Given the description of an element on the screen output the (x, y) to click on. 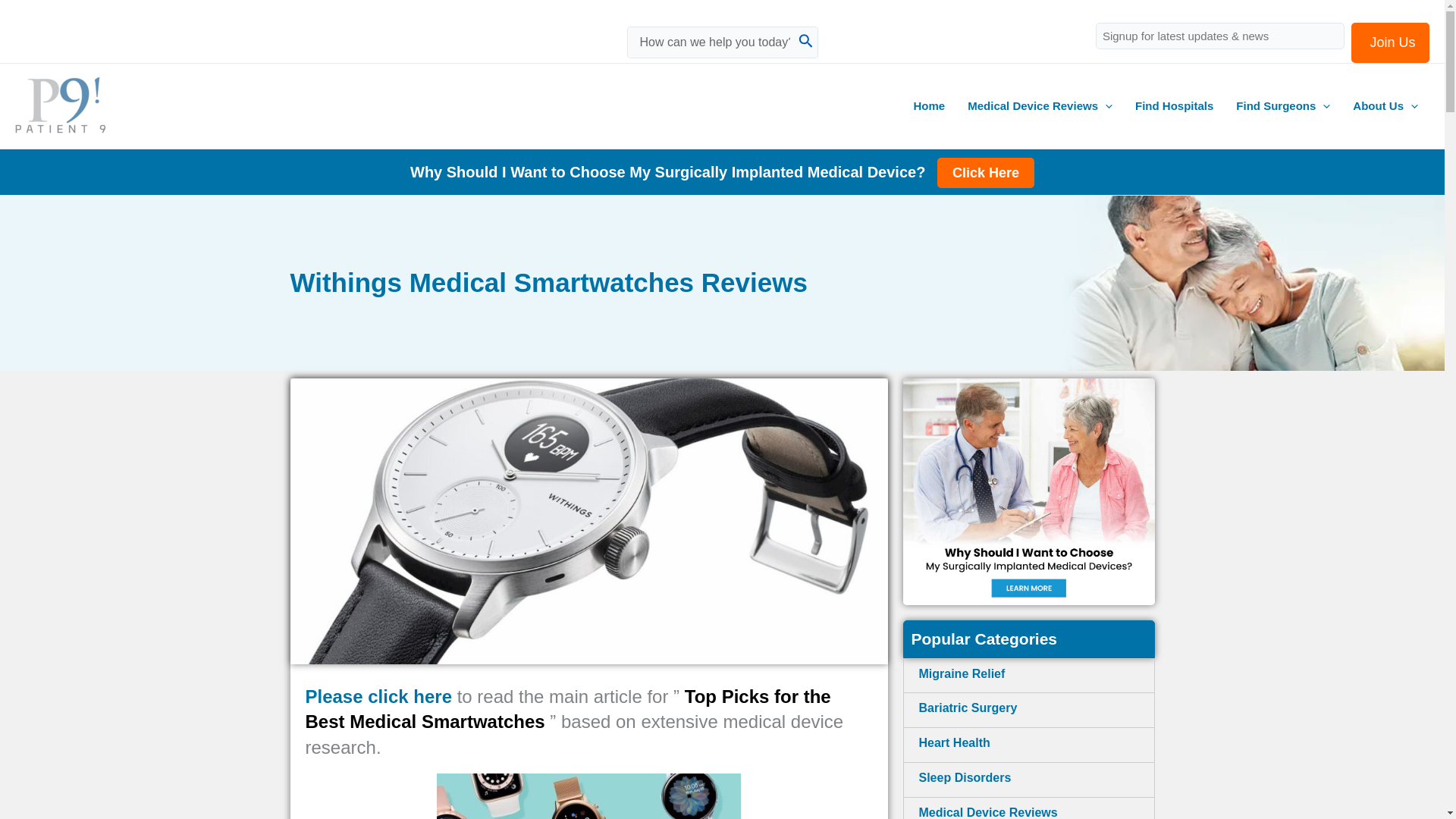
Join Us (1390, 42)
Home (929, 106)
Find Hospitals (1174, 106)
Join Us (1390, 42)
Medical Device Reviews (1040, 106)
Find Surgeons (1282, 106)
